Given the description of an element on the screen output the (x, y) to click on. 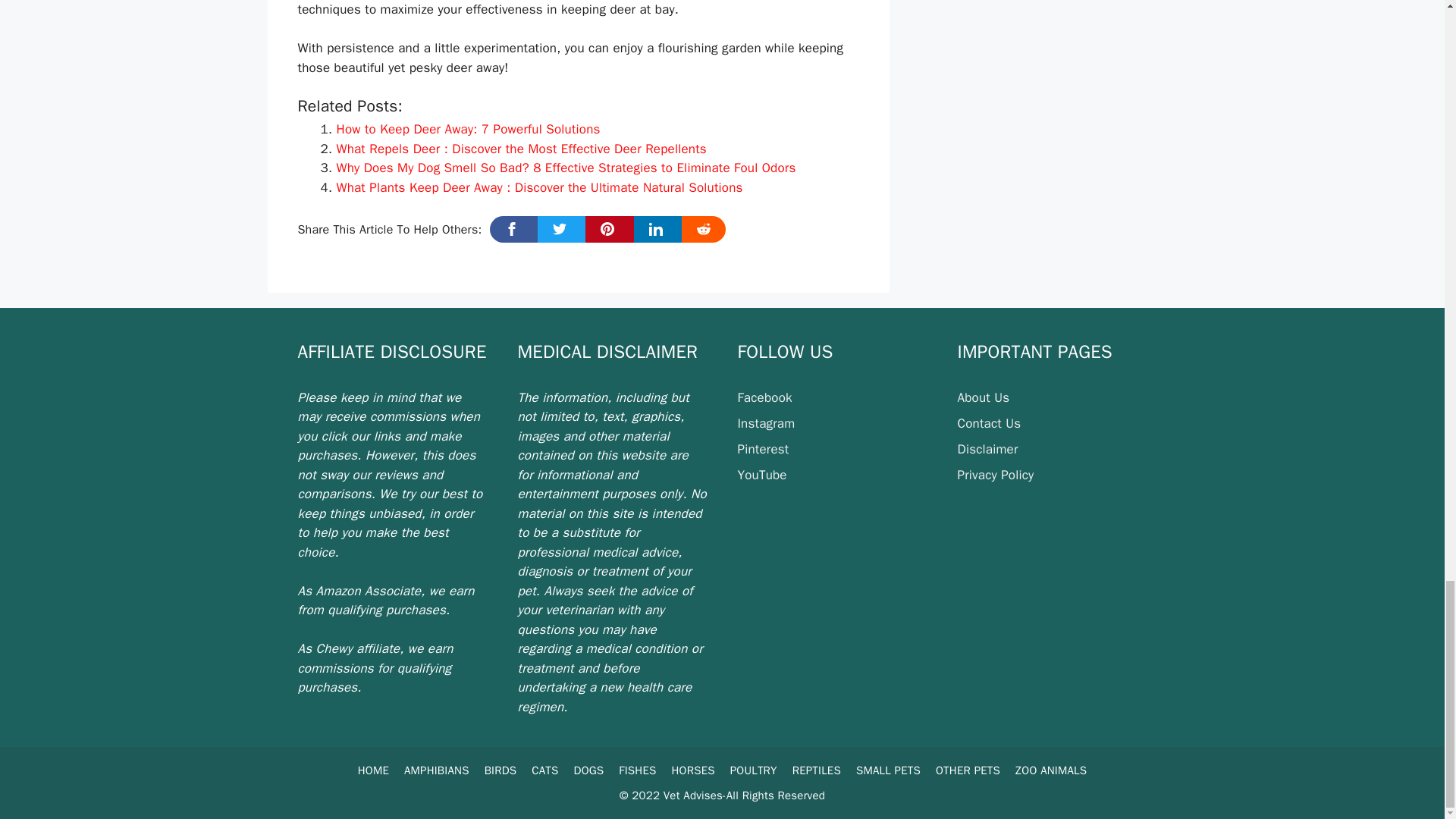
How to Keep Deer Away: 7 Powerful Solutions (467, 129)
How to Keep Deer Away: 7 Powerful Solutions (467, 129)
